Given the description of an element on the screen output the (x, y) to click on. 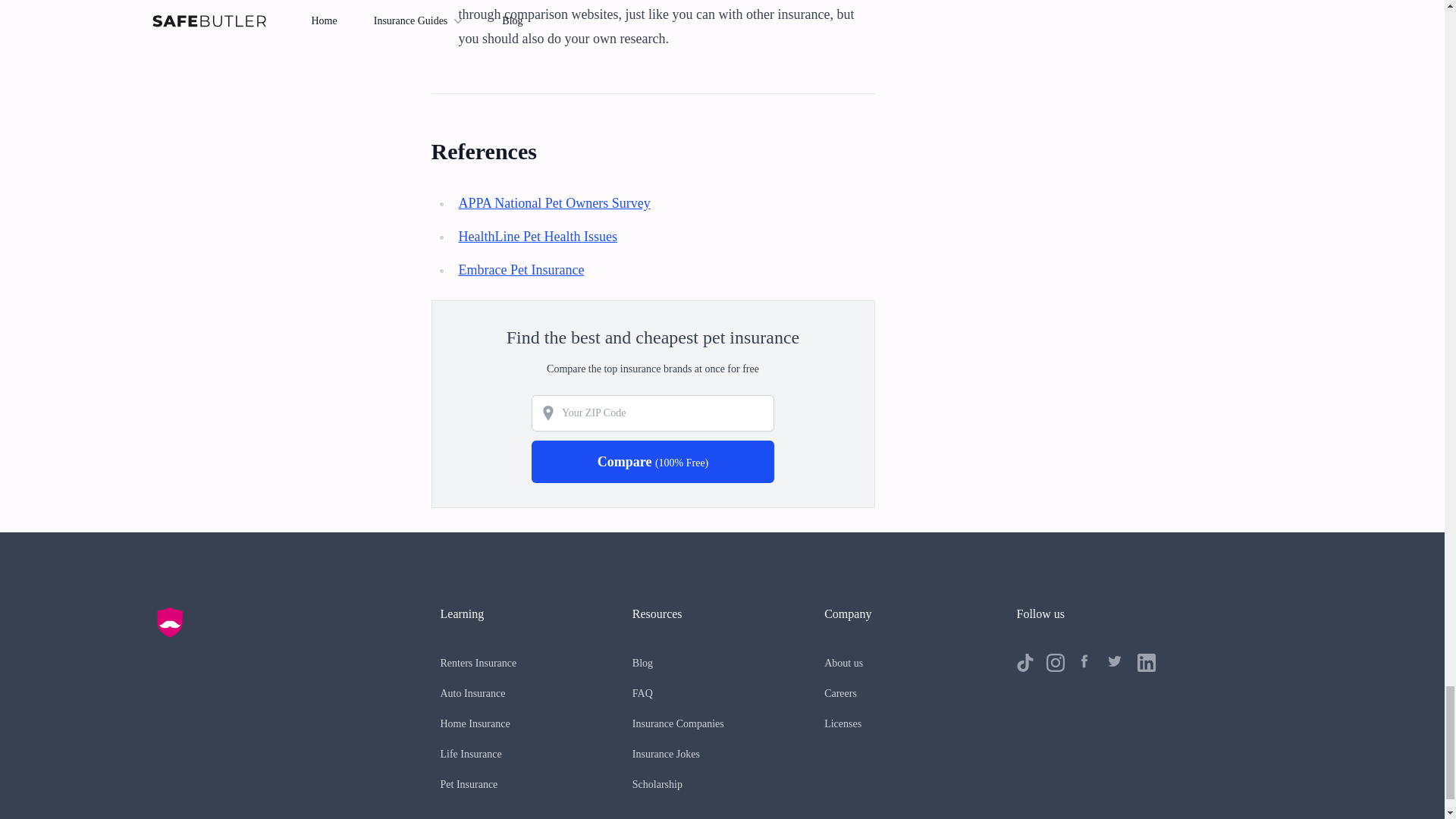
Follow us on Instagram (1055, 662)
HealthLine Pet Health Issues (536, 236)
Follow us on Twitter (1115, 662)
Follow us on LinkedIn (1146, 662)
Follow us on Facebook (1085, 662)
Home Insurance (474, 723)
Auto Insurance (472, 693)
APPA National Pet Owners Survey (553, 202)
Embrace Pet Insurance (520, 269)
Pet Insurance (468, 784)
